Given the description of an element on the screen output the (x, y) to click on. 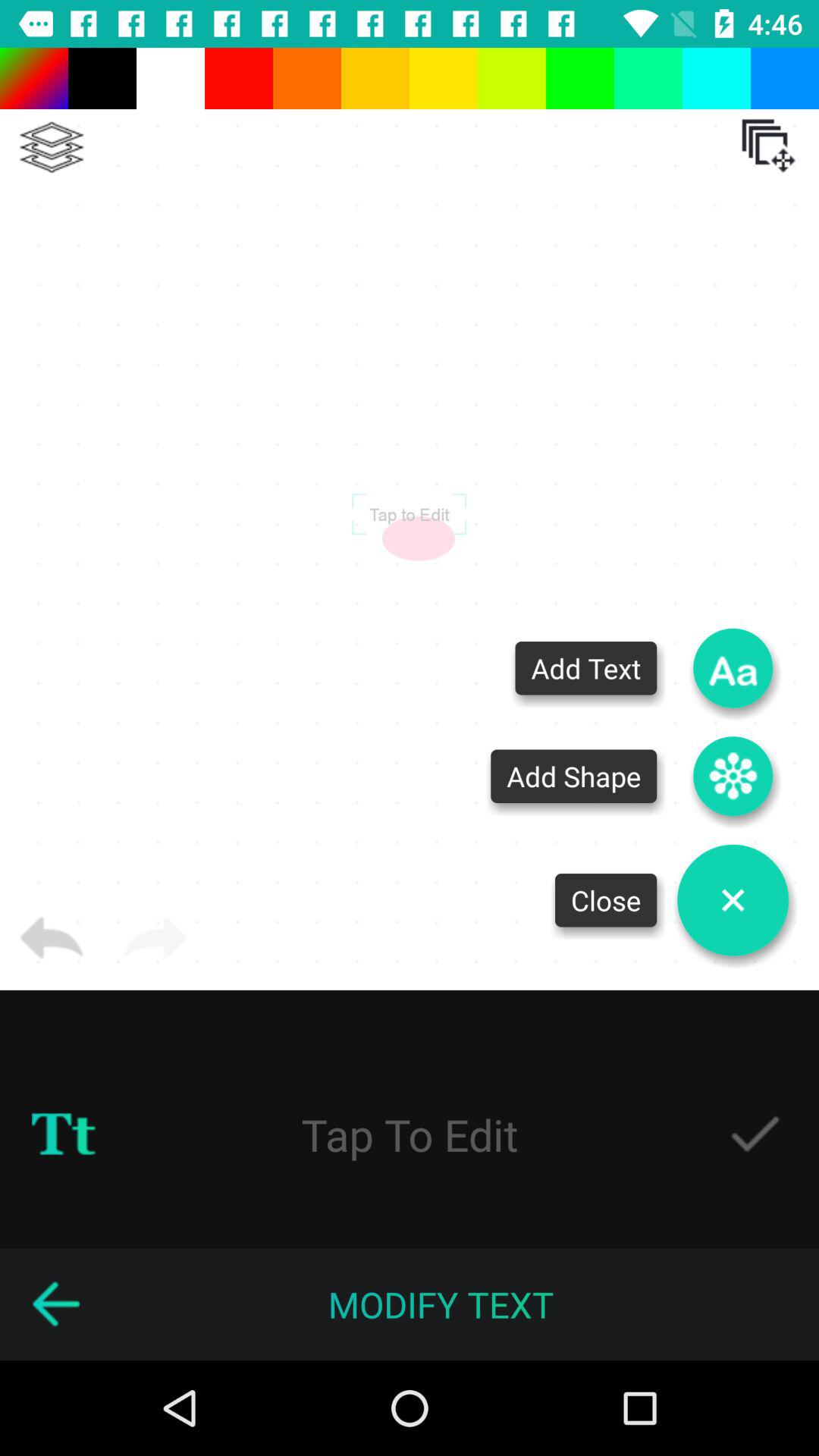
open layers (768, 145)
